Given the description of an element on the screen output the (x, y) to click on. 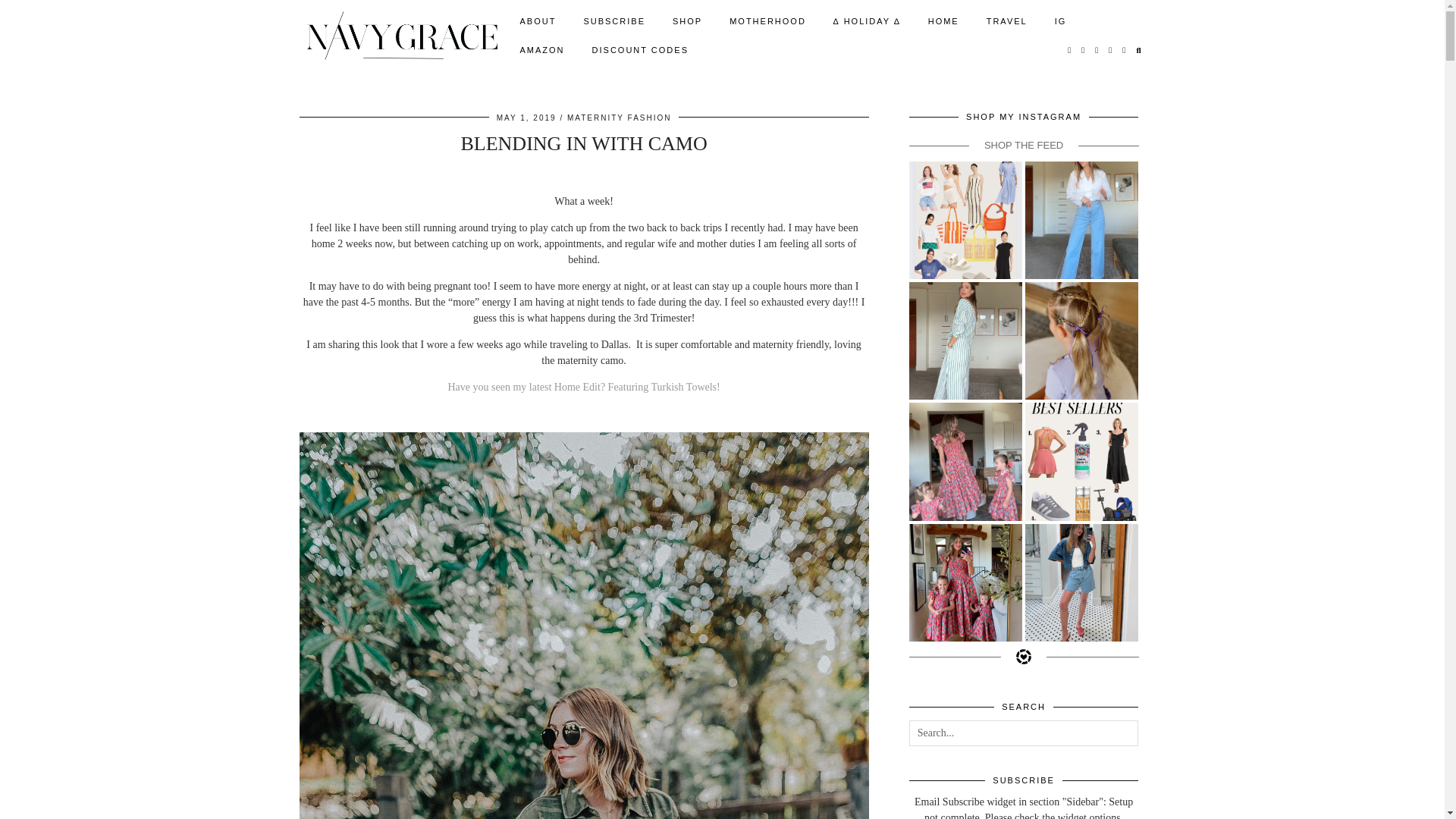
Navy Grace (400, 35)
